Given the description of an element on the screen output the (x, y) to click on. 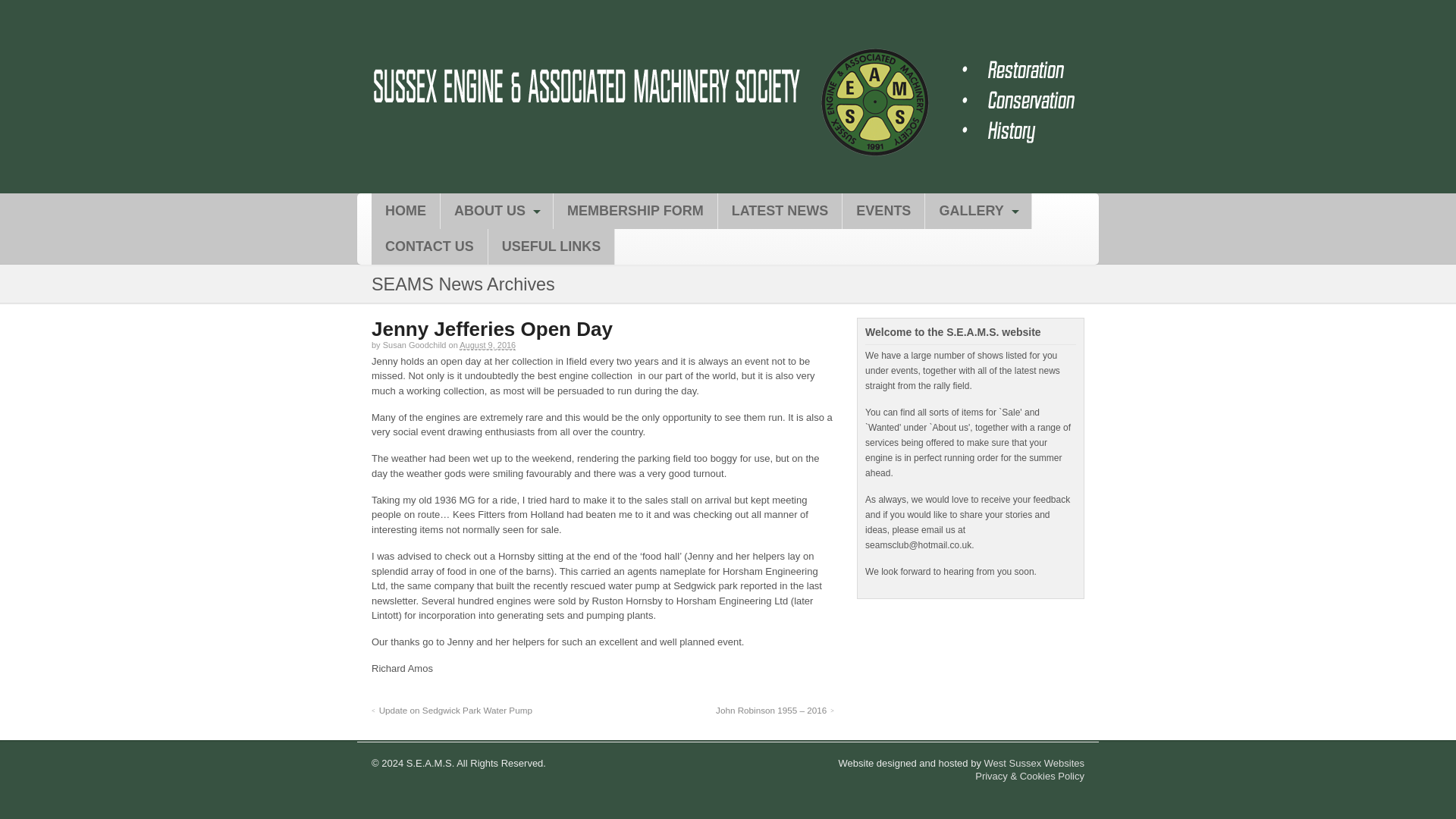
CONTACT US (429, 246)
West Sussex Websites (1034, 763)
GALLERY (977, 211)
HOME (405, 211)
Update on Sedgwick Park Water Pump (451, 709)
USEFUL LINKS (550, 246)
LATEST NEWS (780, 211)
ABOUT US (497, 211)
EVENTS (883, 211)
Sussex Engine and Associated Machinery Society (727, 151)
MEMBERSHIP FORM (635, 211)
